Given the description of an element on the screen output the (x, y) to click on. 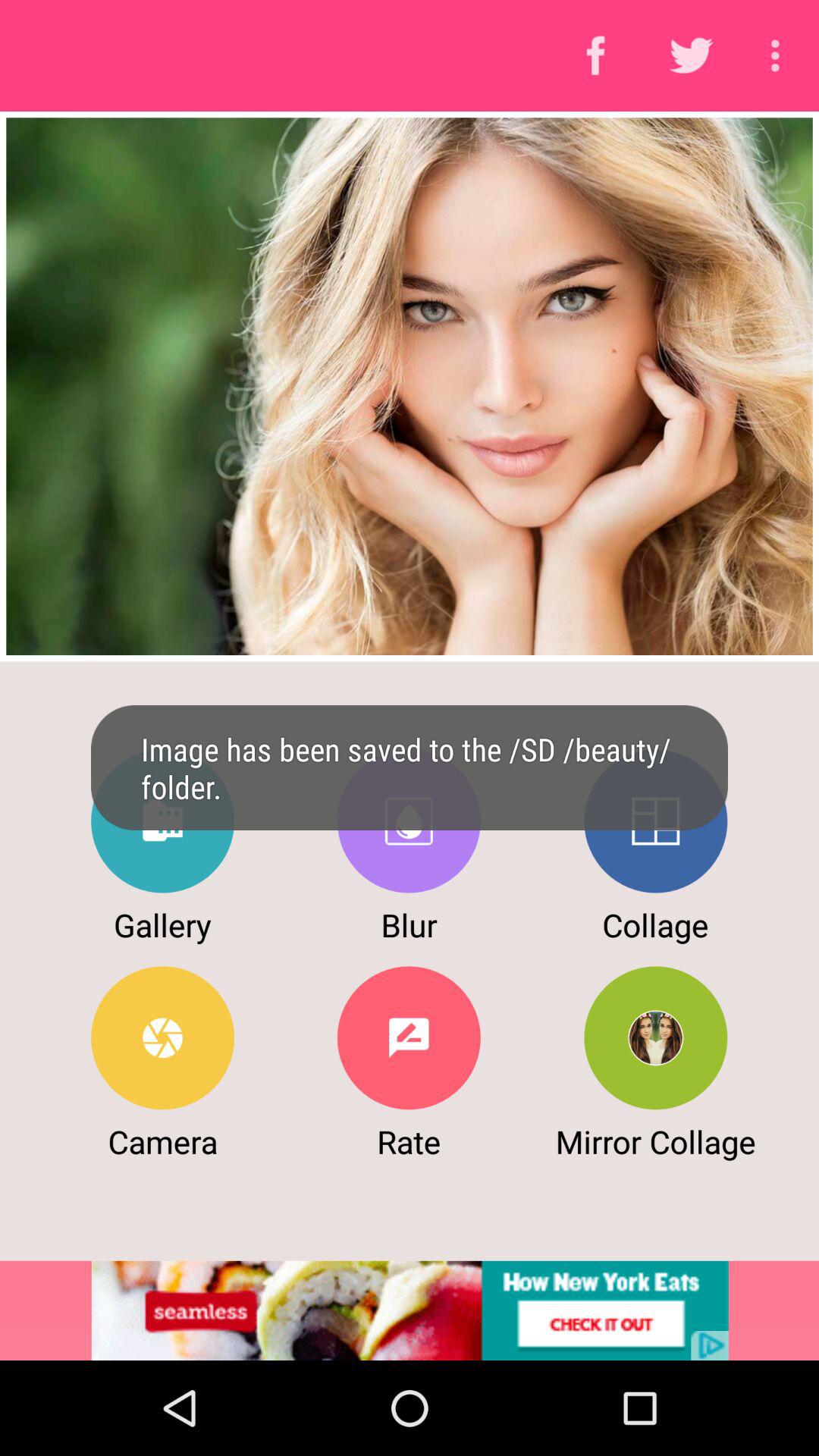
photos option (162, 820)
